Given the description of an element on the screen output the (x, y) to click on. 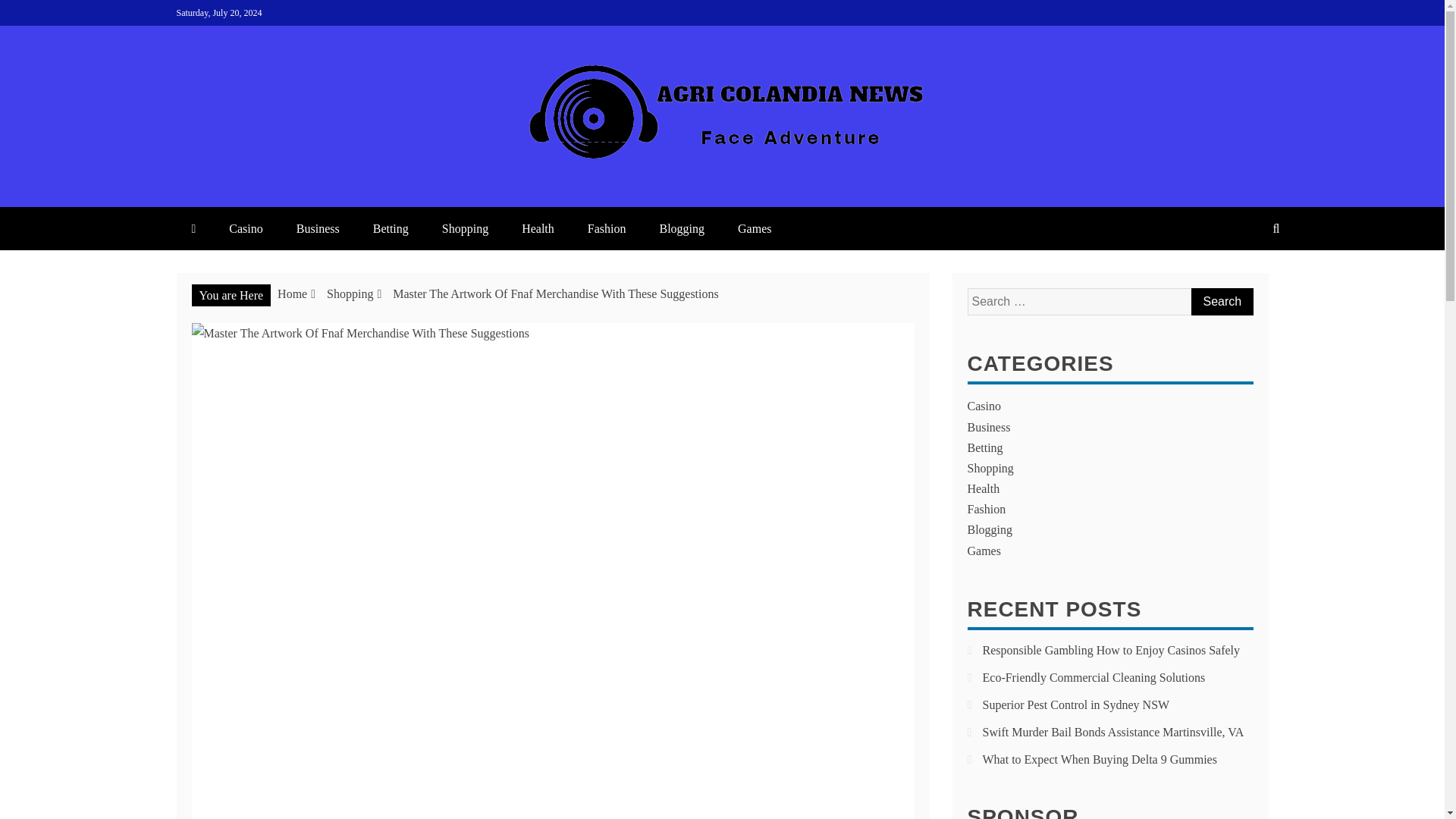
Home (292, 293)
Search (1221, 301)
AGRI COLANDIA NEWS (396, 191)
Games (754, 228)
Search (1221, 301)
Betting (390, 228)
Fashion (607, 228)
Search (1221, 301)
Shopping (349, 293)
Shopping (464, 228)
Health (537, 228)
Casino (246, 228)
Business (318, 228)
Blogging (681, 228)
